Given the description of an element on the screen output the (x, y) to click on. 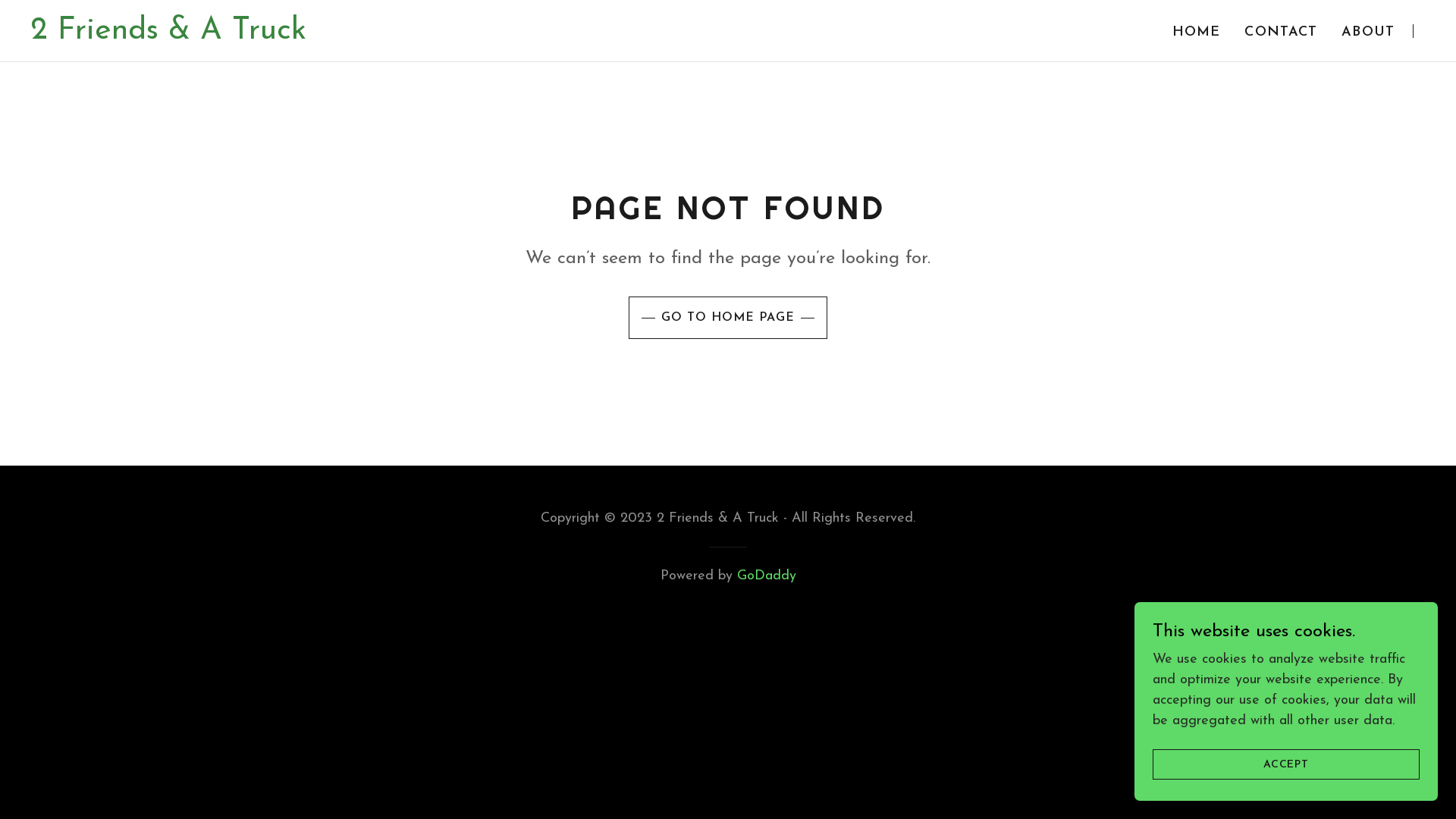
ABOUT Element type: text (1367, 32)
GO TO HOME PAGE Element type: text (727, 317)
ACCEPT Element type: text (1285, 764)
CONTACT Element type: text (1280, 32)
GoDaddy Element type: text (766, 575)
HOME Element type: text (1196, 32)
2 Friends & A Truck Element type: text (168, 35)
